Given the description of an element on the screen output the (x, y) to click on. 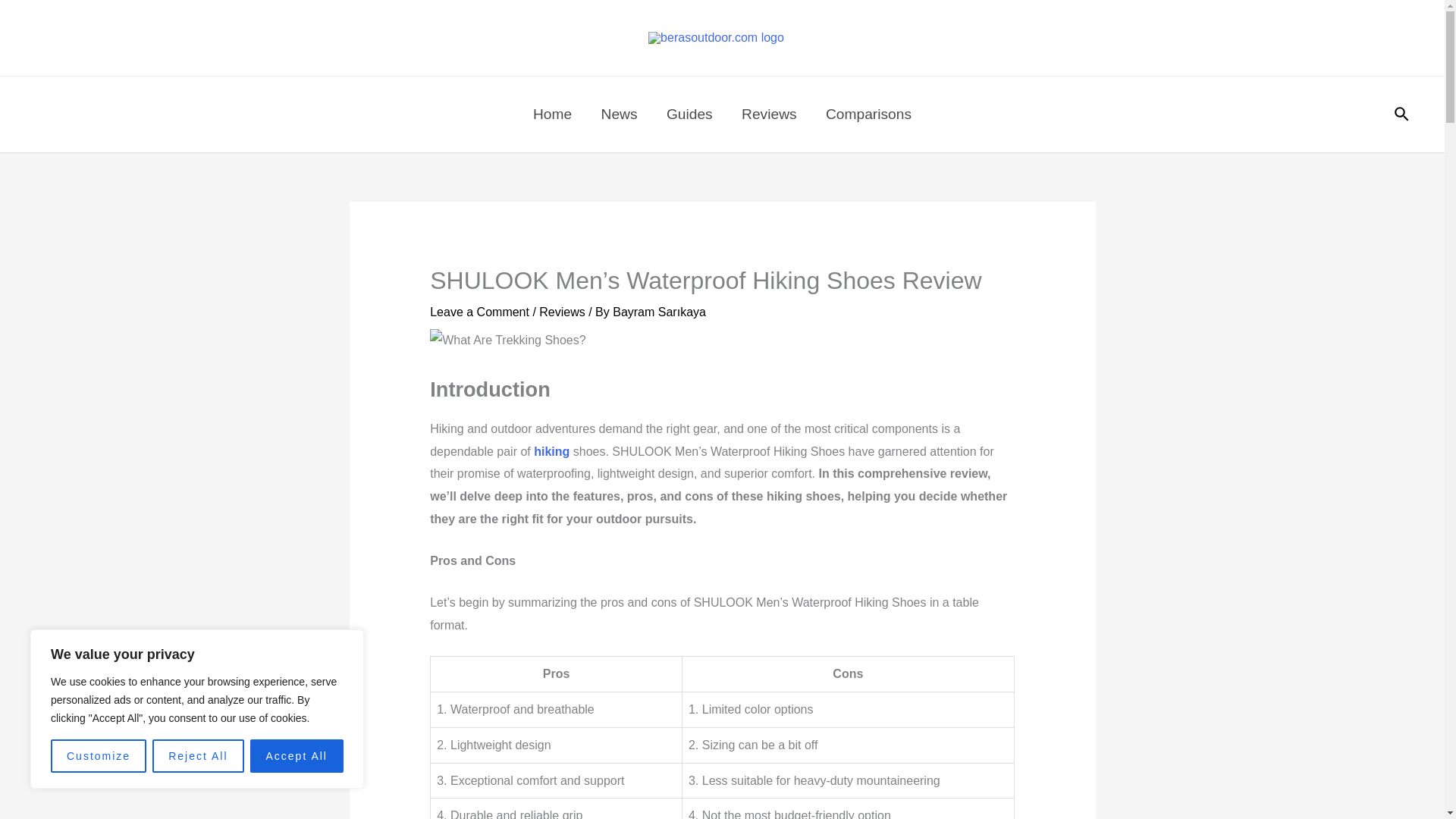
hiking (551, 451)
Home (552, 114)
Reviews (561, 311)
Guides (689, 114)
Accept All (296, 756)
Leave a Comment (479, 311)
Search (1402, 115)
Reject All (197, 756)
Customize (98, 756)
News (618, 114)
Comparisons (868, 114)
Reviews (768, 114)
